Given the description of an element on the screen output the (x, y) to click on. 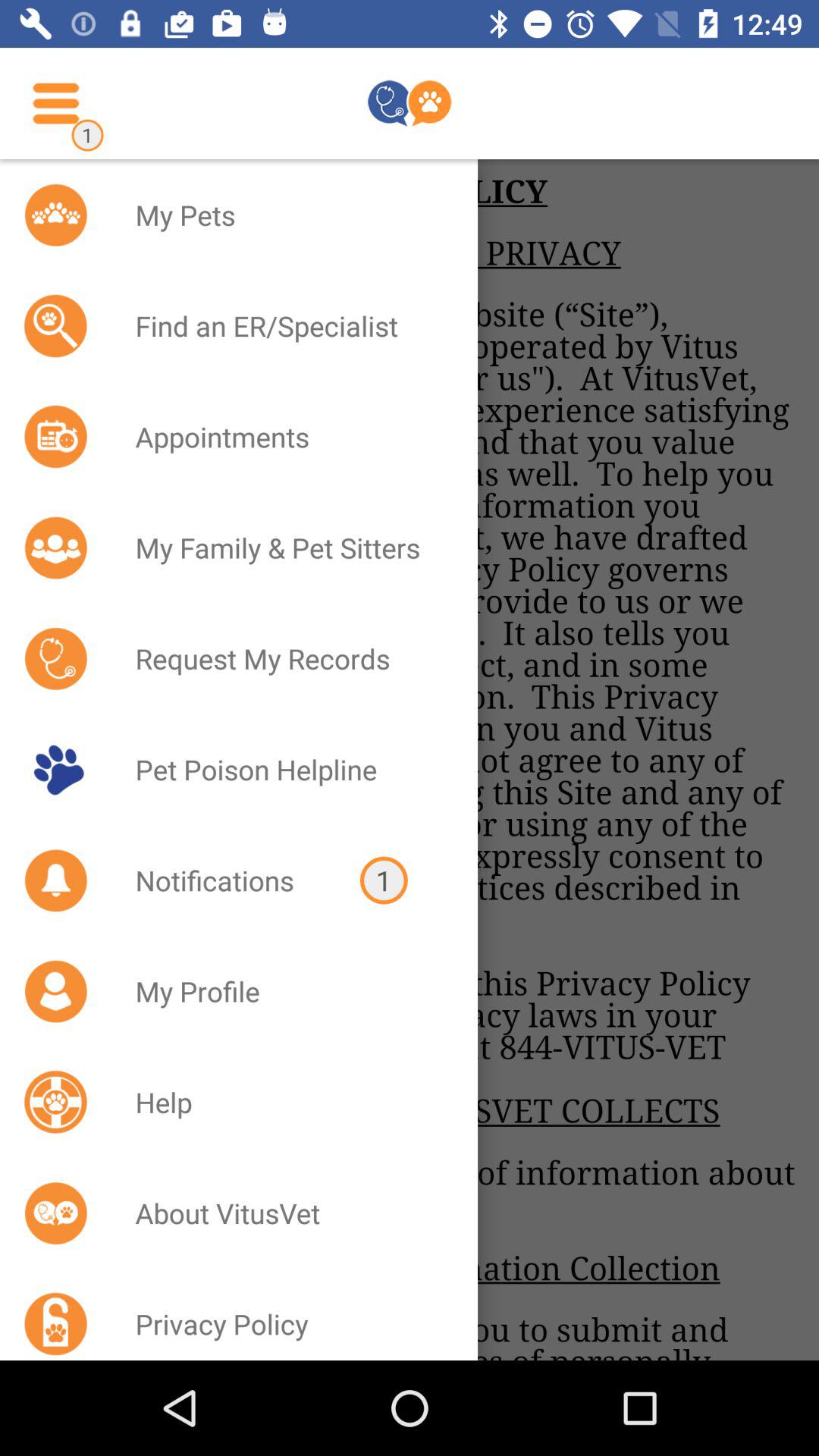
launch the request my records icon (286, 658)
